Given the description of an element on the screen output the (x, y) to click on. 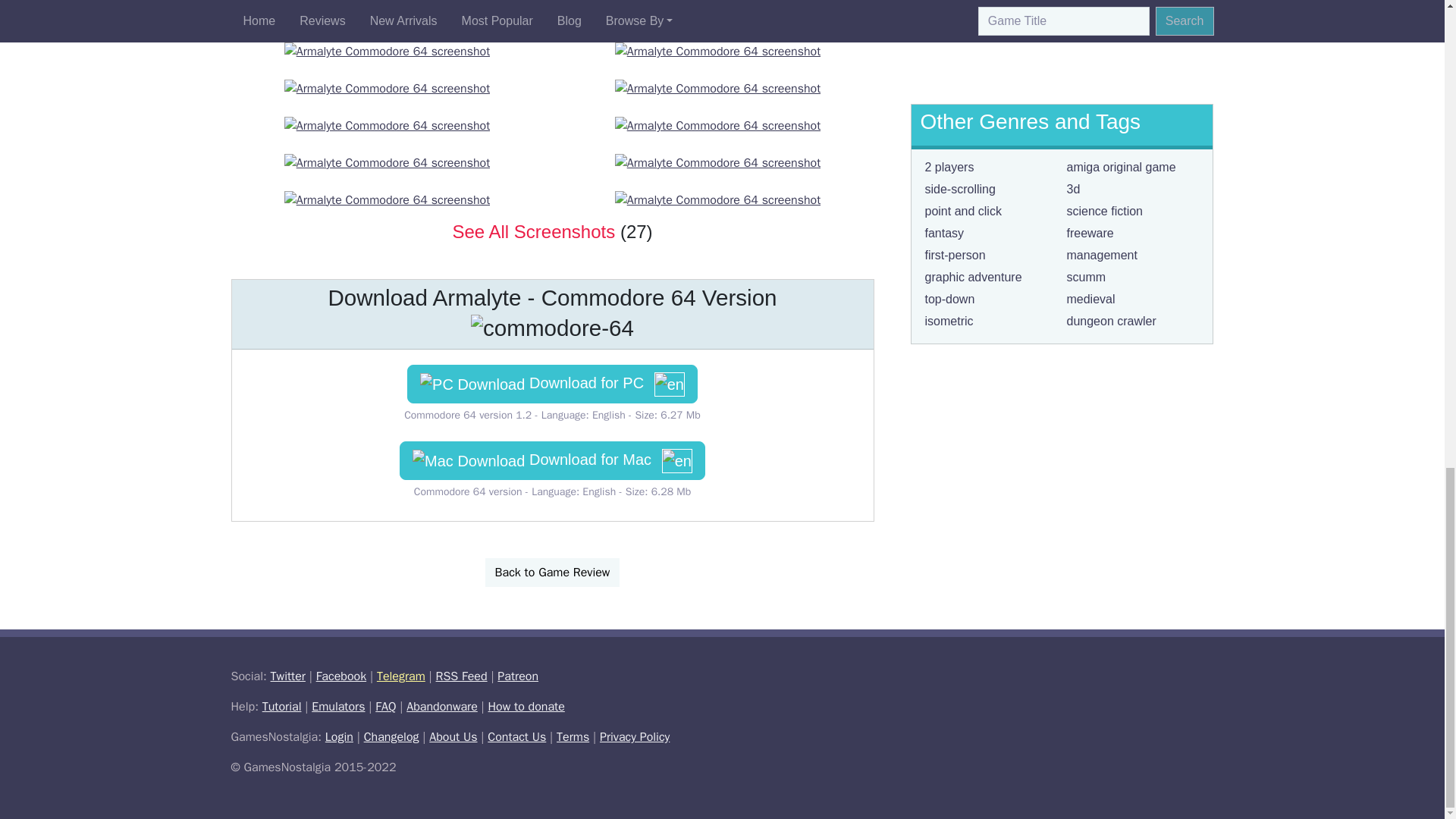
commodore-64 (551, 328)
